Given the description of an element on the screen output the (x, y) to click on. 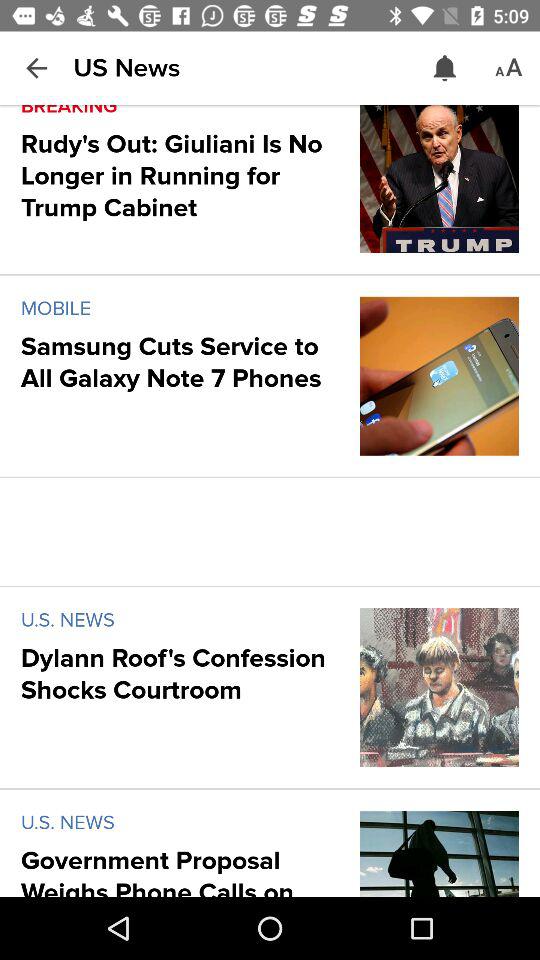
turn on item above breaking icon (126, 68)
